Given the description of an element on the screen output the (x, y) to click on. 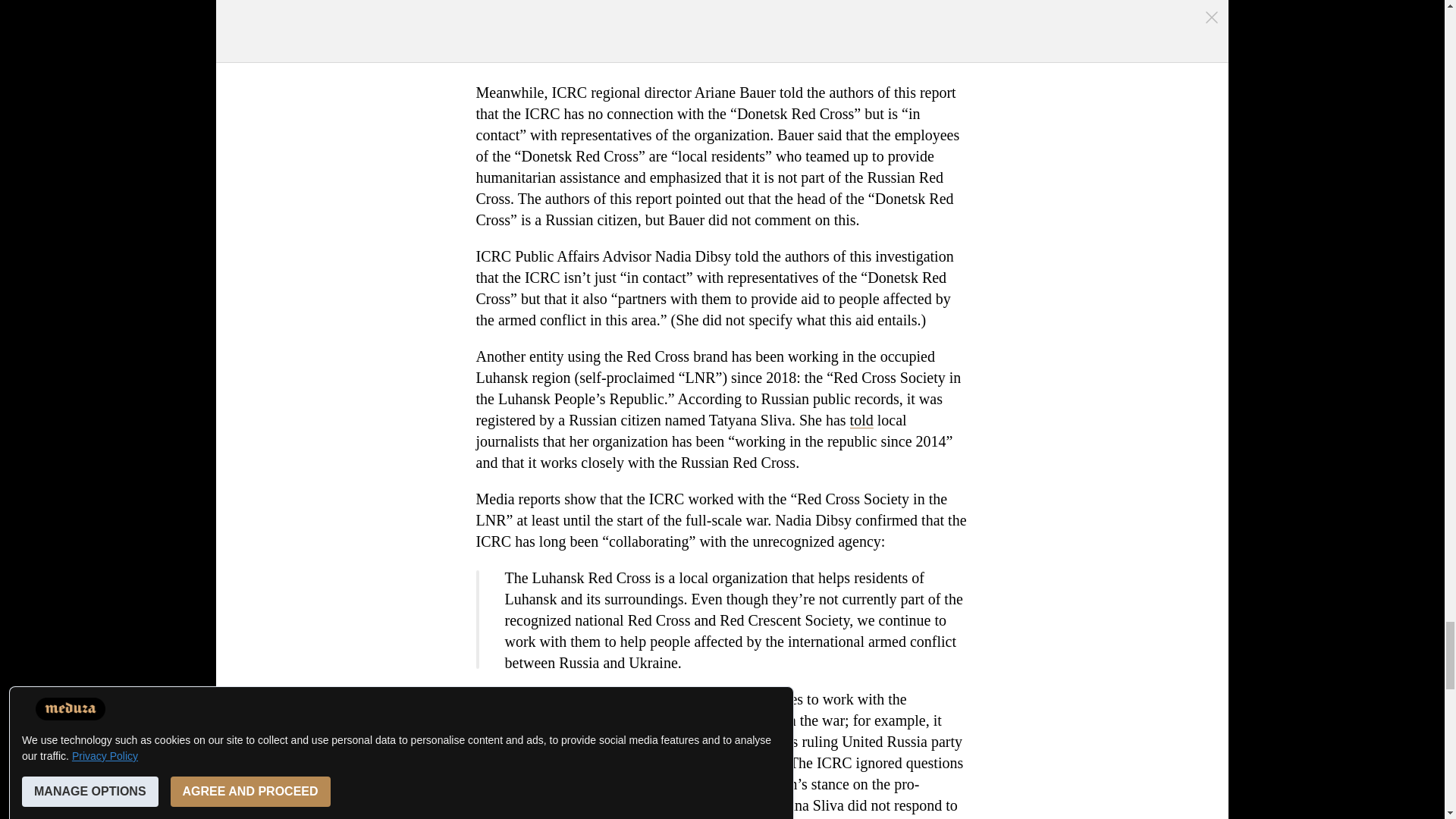
3rd party ad content (722, 29)
